Given the description of an element on the screen output the (x, y) to click on. 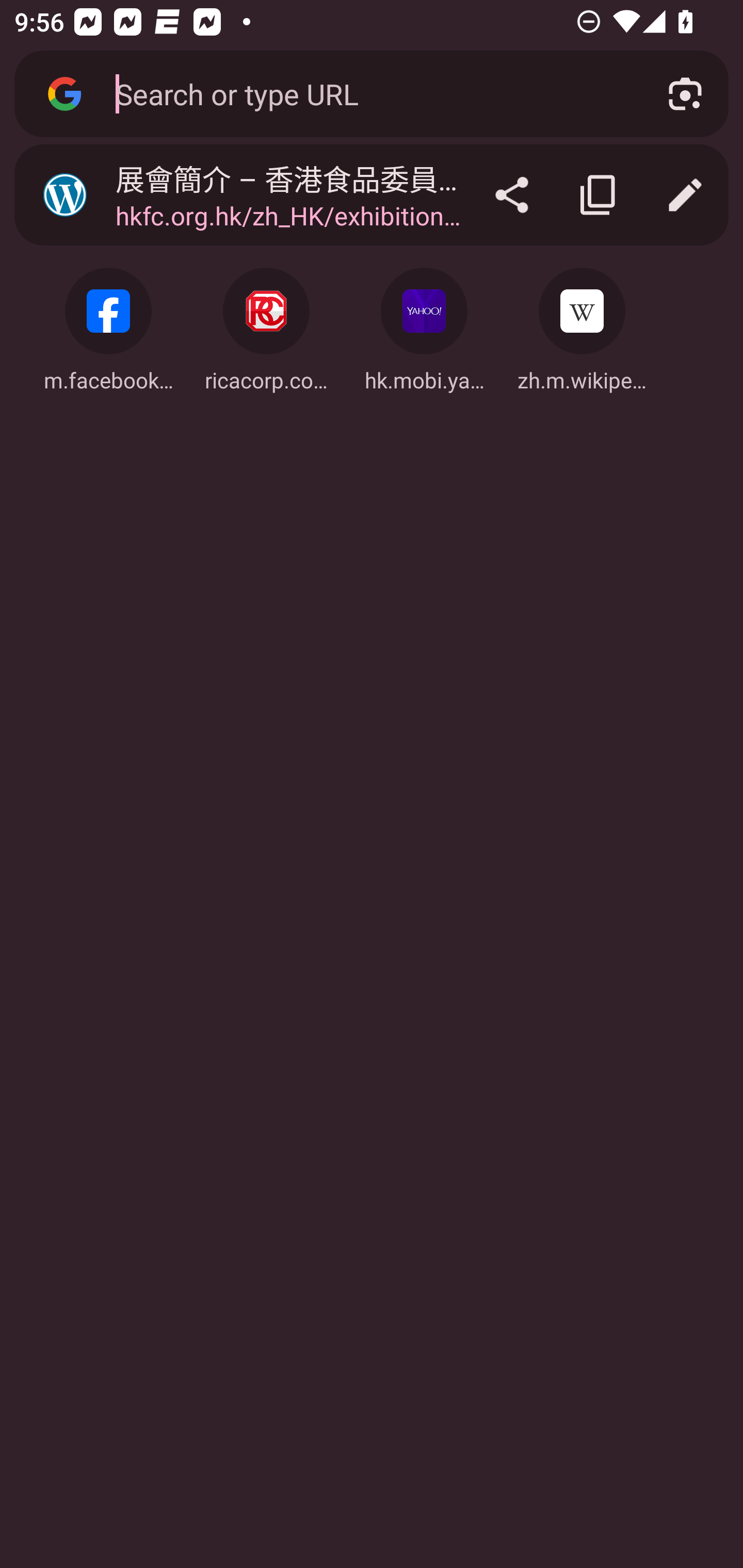
Search with your camera using Google Lens (684, 93)
Search or type URL (367, 92)
Share… (511, 195)
Copy link (598, 195)
Edit (684, 195)
